Given the description of an element on the screen output the (x, y) to click on. 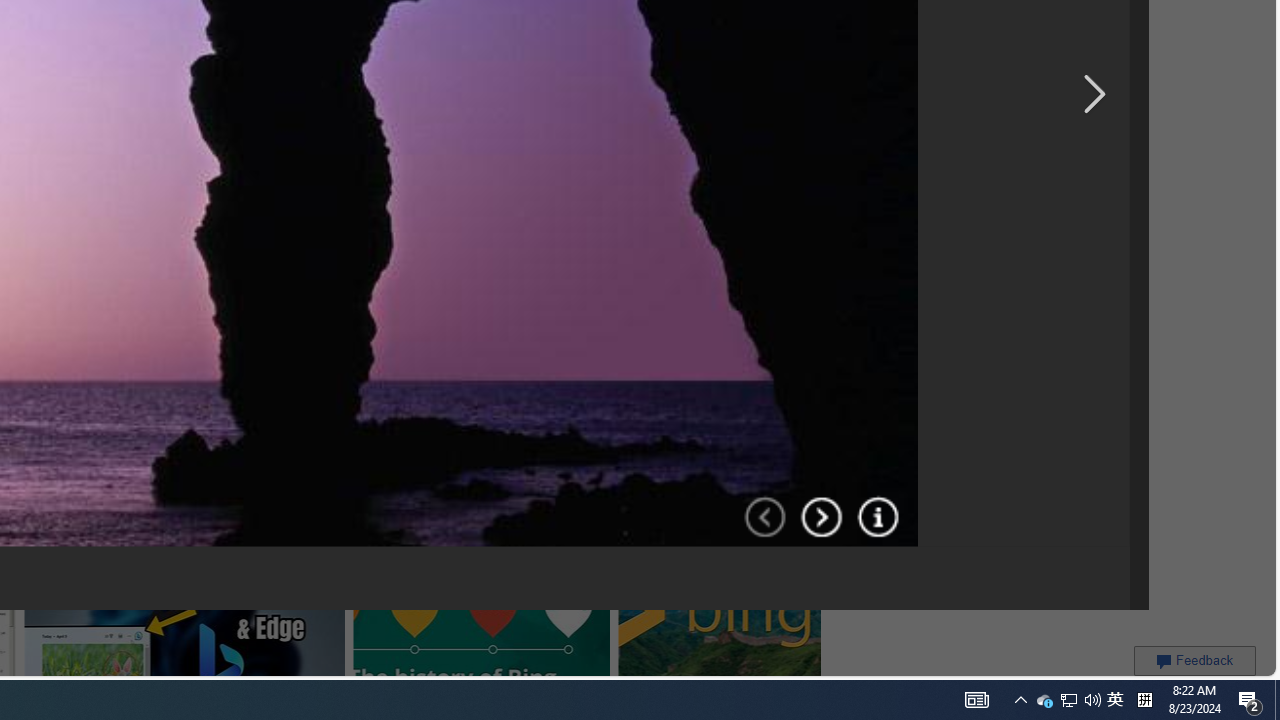
microsoft bing (555, 16)
Bing (2009) (RARE/FAKE) - YouTubeSave (381, 169)
Microsoft Bing Search | Enfew (763, 24)
